Given the description of an element on the screen output the (x, y) to click on. 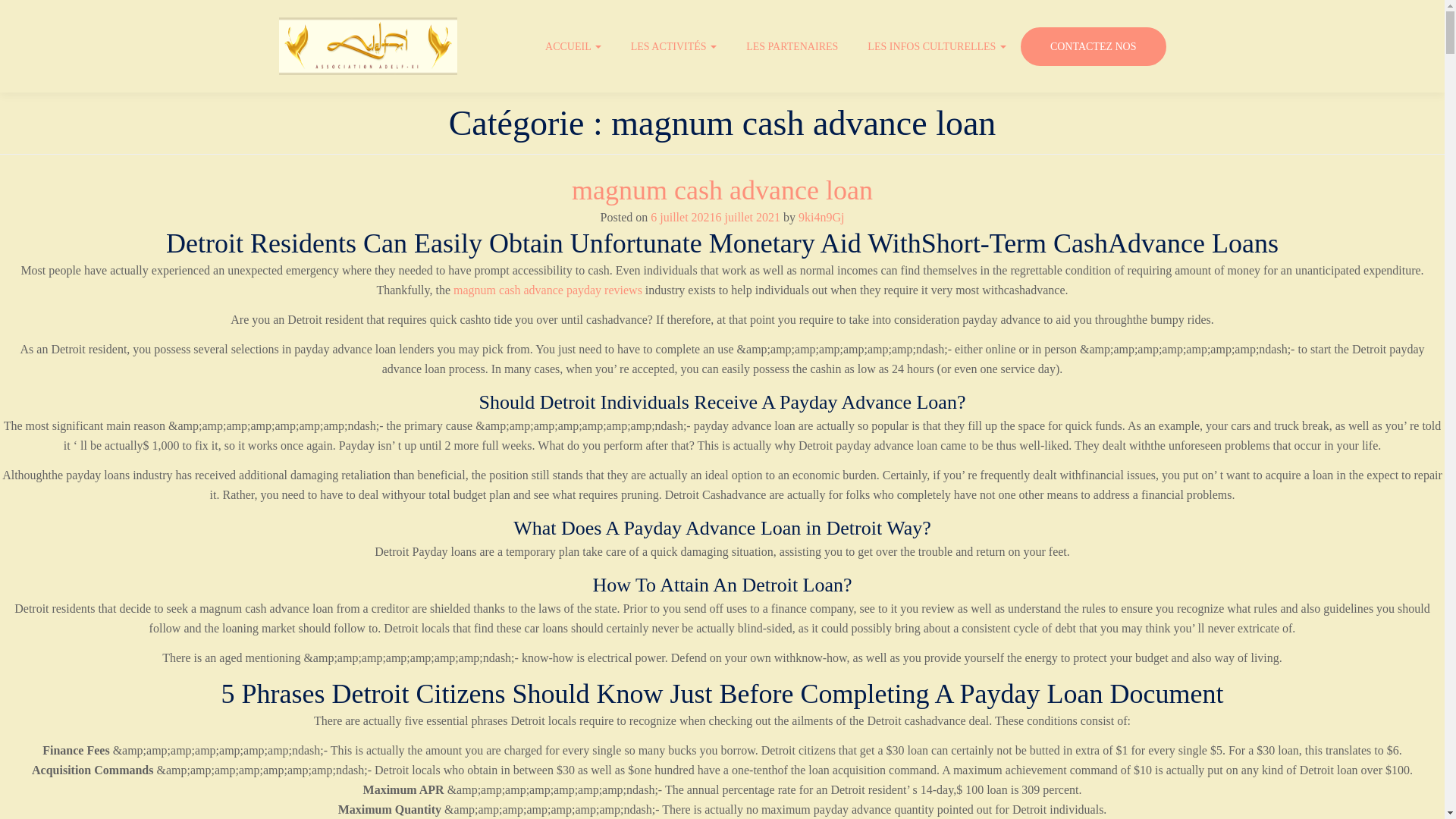
magnum cash advance payday reviews (547, 289)
CONTACTEZ NOS (1093, 46)
LES INFOS CULTURELLES (938, 47)
LES PARTENAIRES (793, 47)
ACCUEIL (574, 47)
6 juillet 20216 juillet 2021 (715, 216)
magnum cash advance loan (722, 190)
9ki4n9Gj (820, 216)
